Given the description of an element on the screen output the (x, y) to click on. 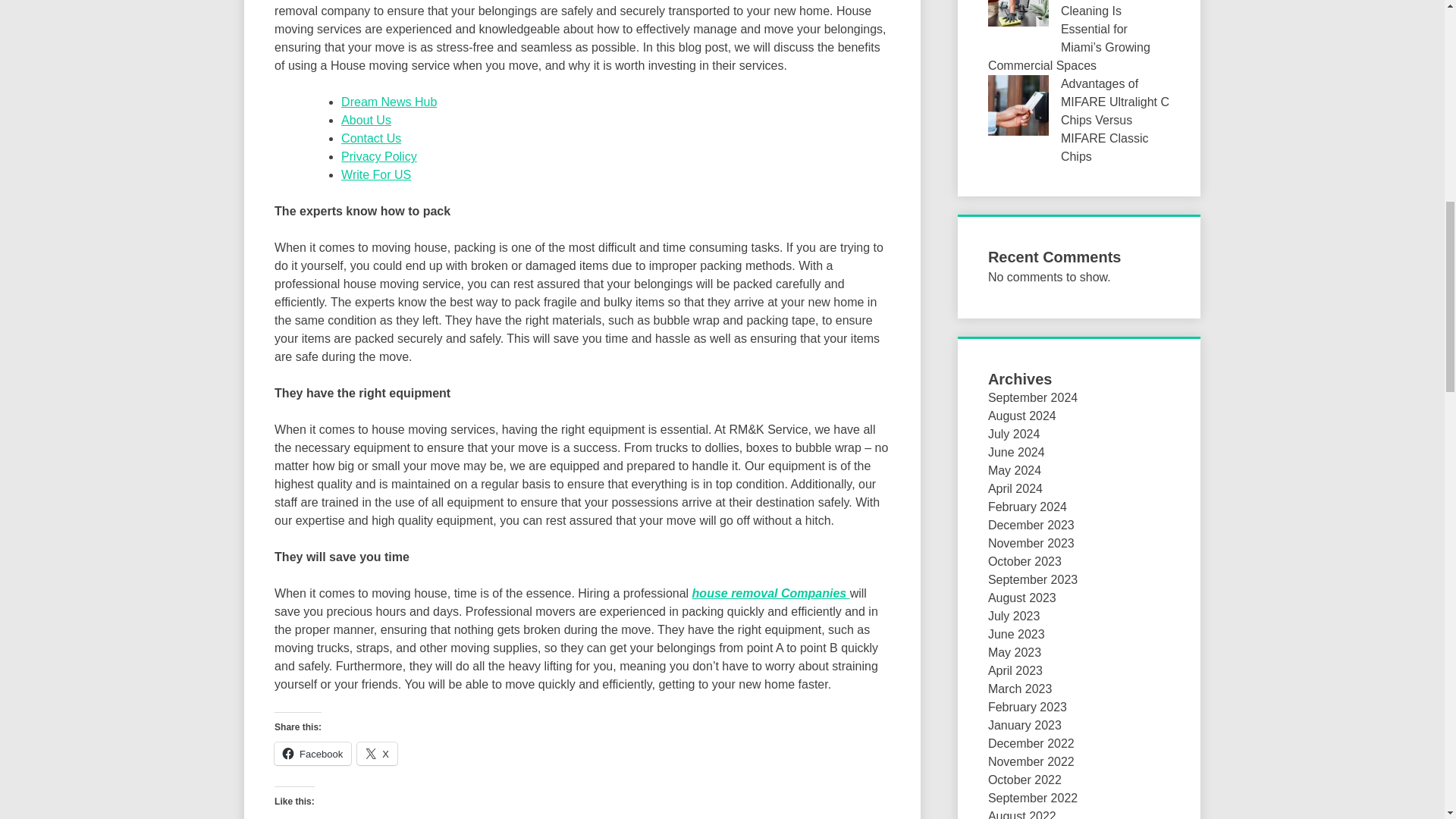
Write For US (375, 174)
Click to share on X (376, 753)
house removal Companies (771, 593)
Contact Us (370, 137)
About Us (365, 119)
Dream News Hub (388, 101)
Click to share on Facebook (312, 753)
Privacy Policy (378, 155)
